Given the description of an element on the screen output the (x, y) to click on. 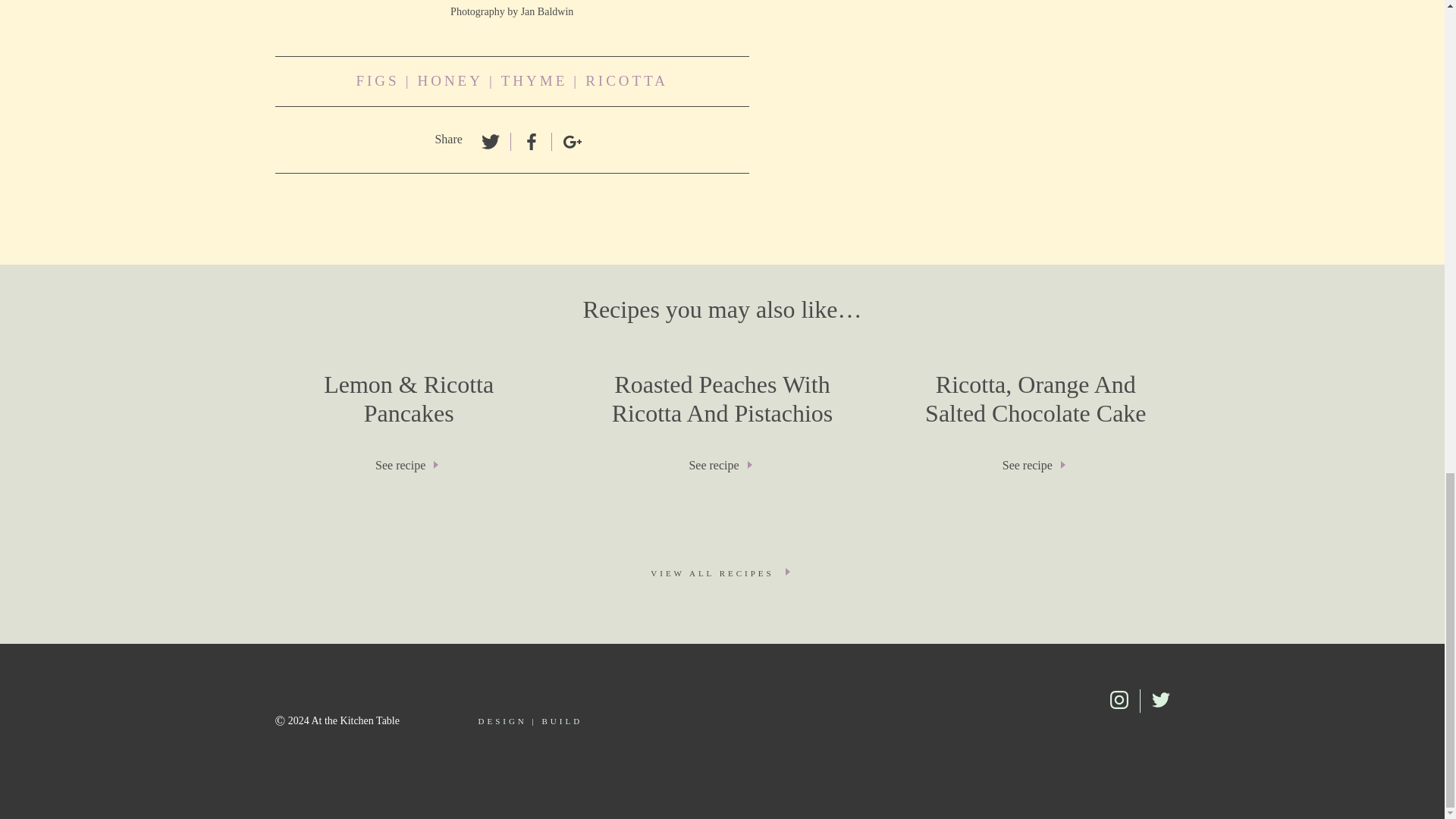
THYME (533, 81)
VIEW ALL RECIPES (721, 573)
BUILD (722, 427)
DESIGN (562, 720)
RICOTTA (501, 720)
FIGS (626, 81)
HONEY (376, 81)
